Given the description of an element on the screen output the (x, y) to click on. 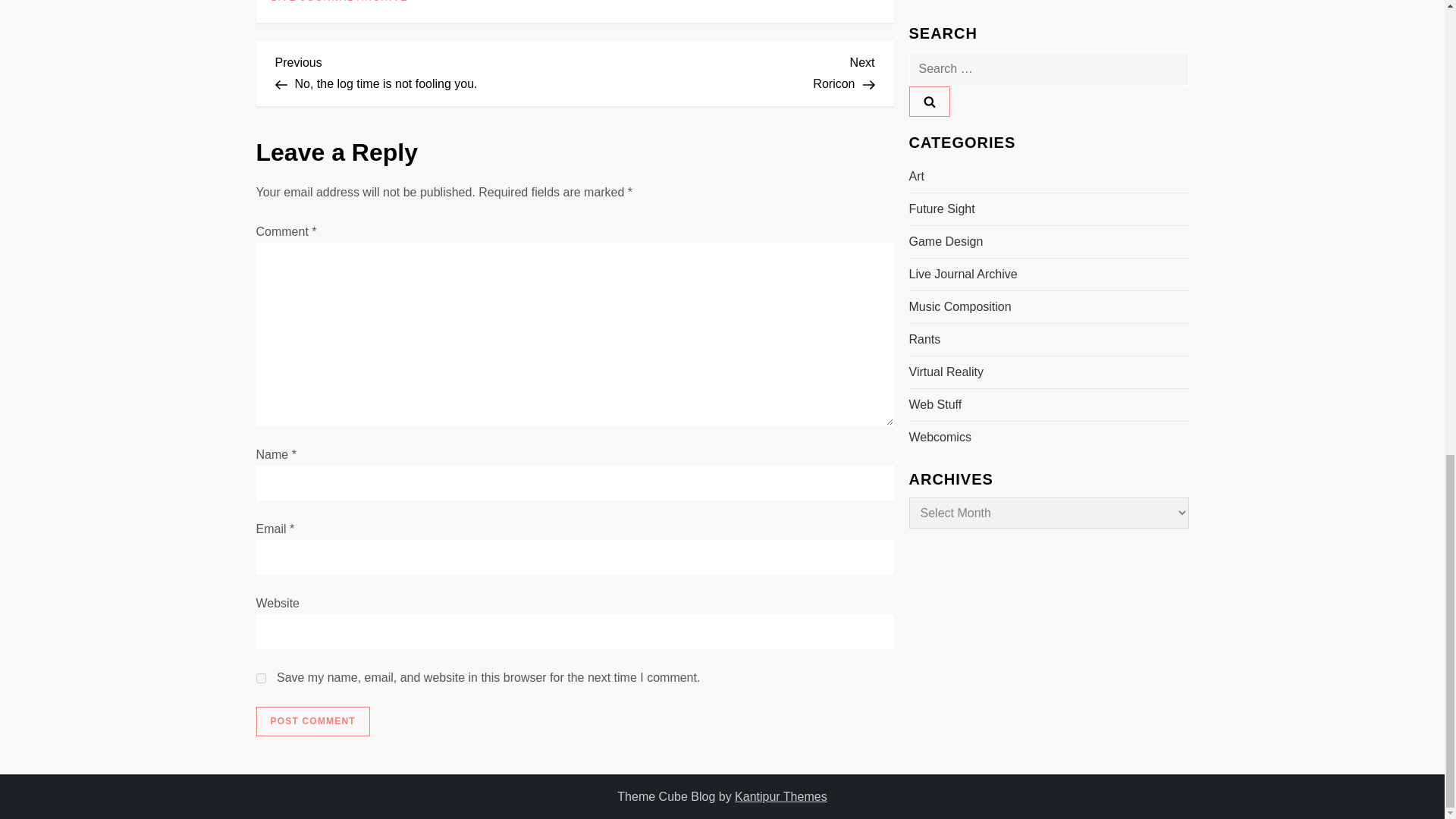
yes (261, 678)
LIVE JOURNAL ARCHIVE (339, 2)
Post Comment (425, 71)
Kantipur Themes (312, 721)
Post Comment (781, 796)
